Given the description of an element on the screen output the (x, y) to click on. 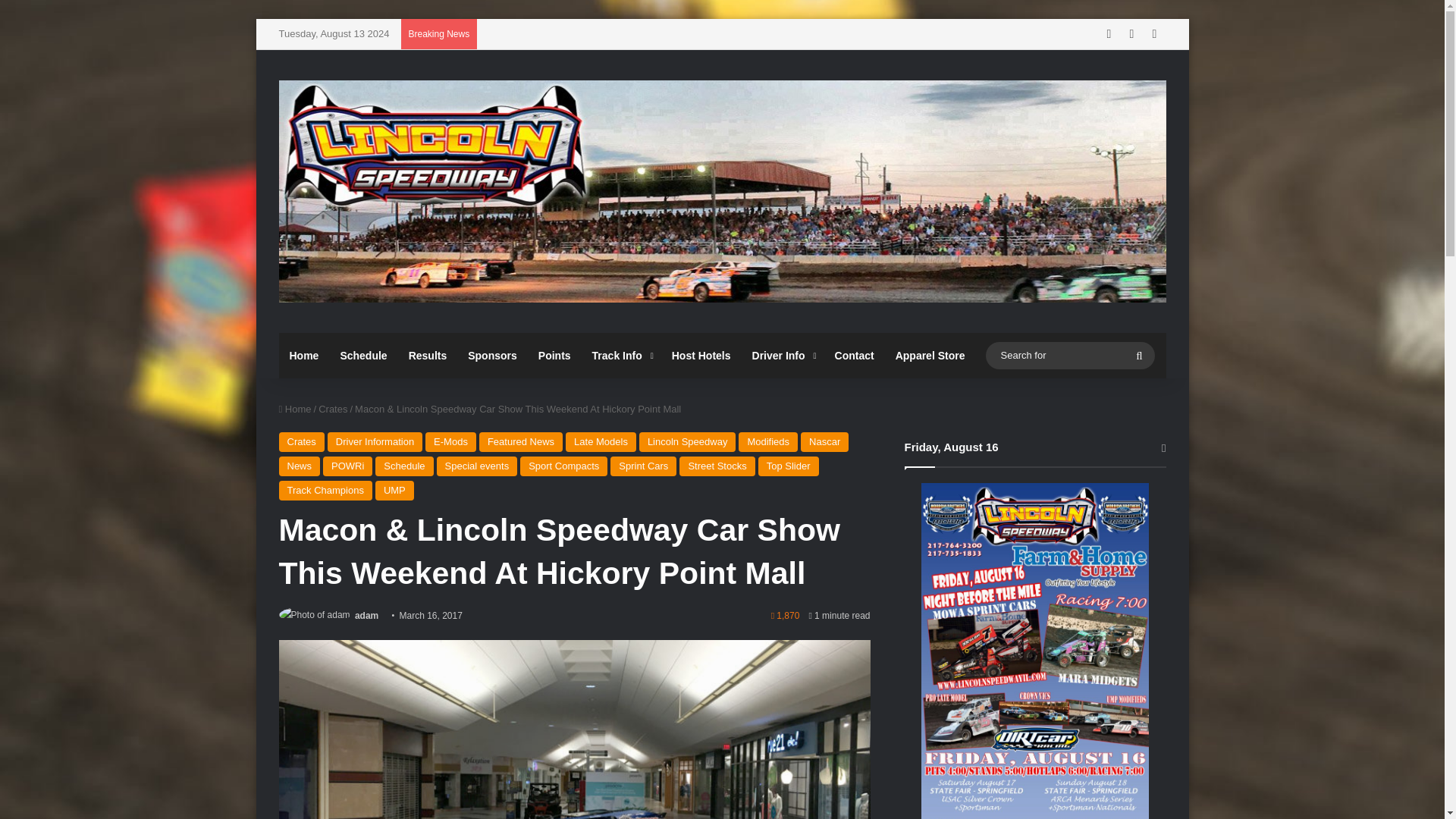
Home (304, 354)
Crates (332, 408)
Search for (1069, 354)
Sponsors (492, 354)
Driver Info (782, 354)
Driver Information (374, 442)
Crates (301, 442)
Search for (1139, 354)
Results (427, 354)
Home (295, 408)
